Given the description of an element on the screen output the (x, y) to click on. 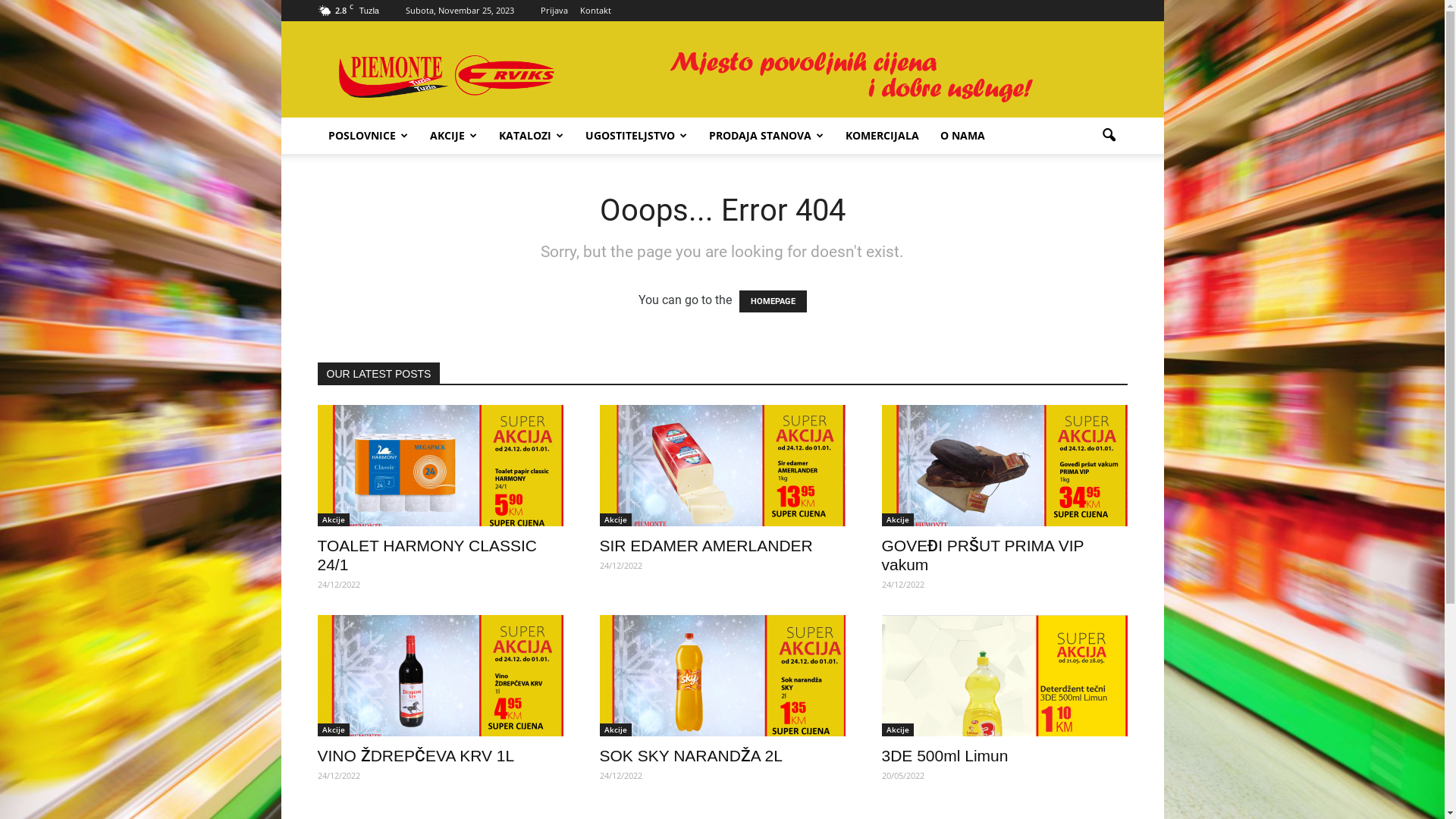
KOMERCIJALA Element type: text (881, 135)
TOALET HARMONY CLASSIC 24/1 Element type: text (426, 554)
Akcije Element type: text (332, 519)
AKCIJE Element type: text (452, 135)
POSLOVNICE Element type: text (367, 135)
SIR EDAMER AMERLANDER Element type: hover (721, 465)
Akcije Element type: text (614, 519)
3DE 500ml Limun Element type: text (944, 755)
Akcije Element type: text (897, 729)
UGOSTITELJSTVO Element type: text (636, 135)
3DE  500ml Limun Element type: hover (1003, 675)
HOMEPAGE Element type: text (772, 301)
Akcije Element type: text (332, 729)
SIR EDAMER AMERLANDER Element type: text (705, 545)
KATALOZI Element type: text (531, 135)
TOALET HARMONY CLASSIC 24/1 Element type: hover (439, 465)
Akcije Element type: text (897, 519)
PRODAJA STANOVA Element type: text (765, 135)
Akcije Element type: text (614, 729)
Kontakt Element type: text (595, 9)
Prijava Element type: text (553, 9)
O NAMA Element type: text (962, 135)
